Given the description of an element on the screen output the (x, y) to click on. 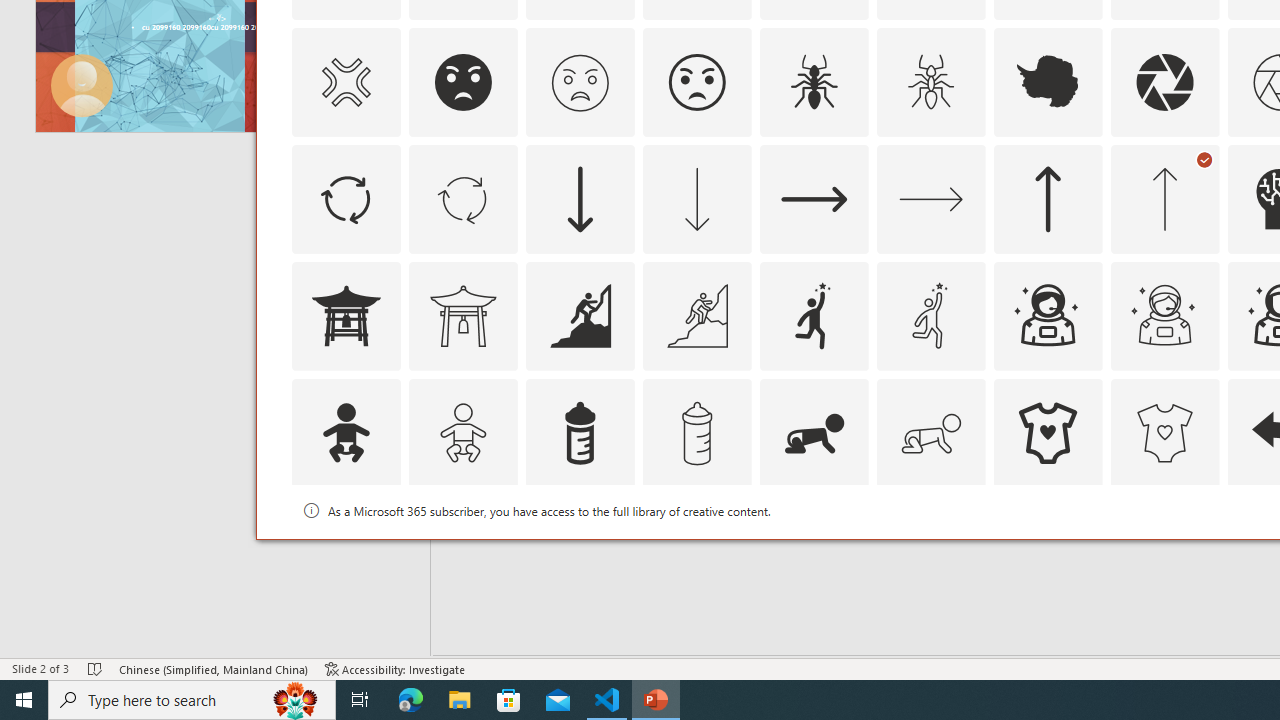
AutomationID: Icons_Antarctica (1048, 82)
AutomationID: Icons_ArrowUp (1048, 198)
AutomationID: Icons_Aspiration1_M (930, 316)
AutomationID: Icons_Aspiration_M (696, 316)
AutomationID: Icons_Badge5 (1164, 550)
AutomationID: Icons_AngryFace_Outline (696, 82)
AutomationID: Icons_ArrowCircle_M (463, 198)
AutomationID: Icons_AstronautFemale (1048, 316)
